Given the description of an element on the screen output the (x, y) to click on. 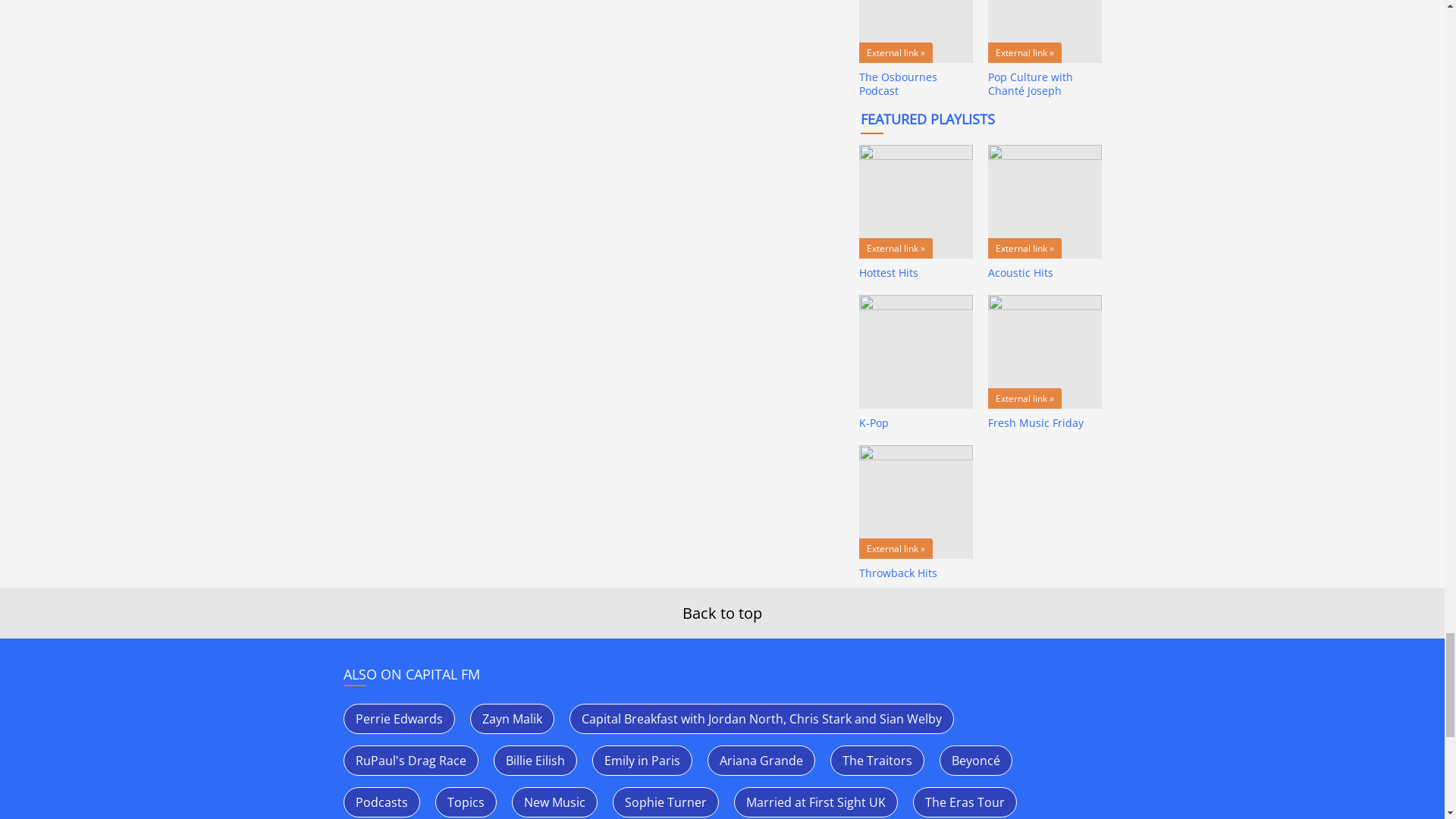
Back to top (721, 612)
